Given the description of an element on the screen output the (x, y) to click on. 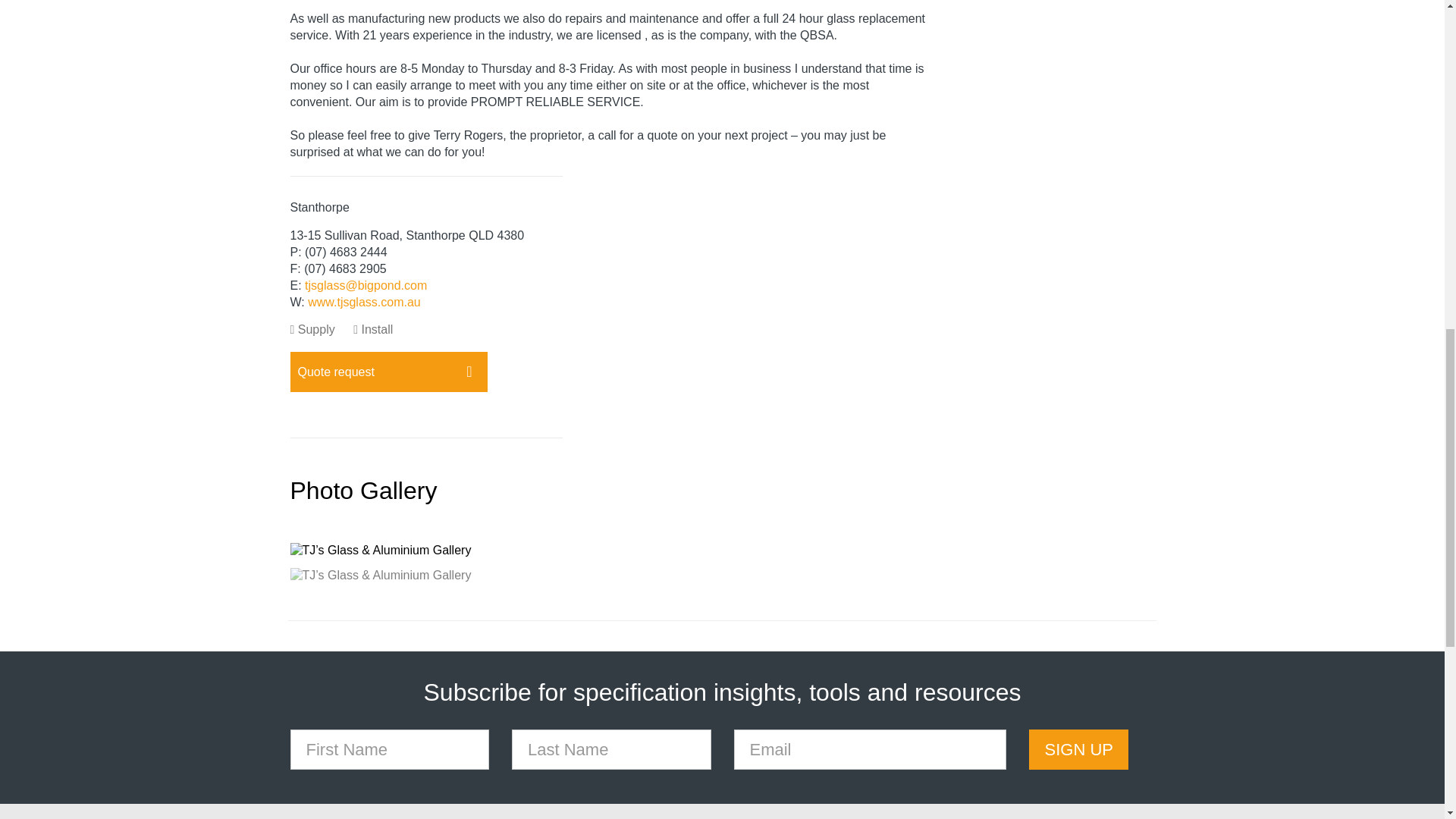
SIGN UP (1077, 749)
SIGN UP (1077, 749)
Quote request (387, 372)
www.tjsglass.com.au (363, 301)
